Given the description of an element on the screen output the (x, y) to click on. 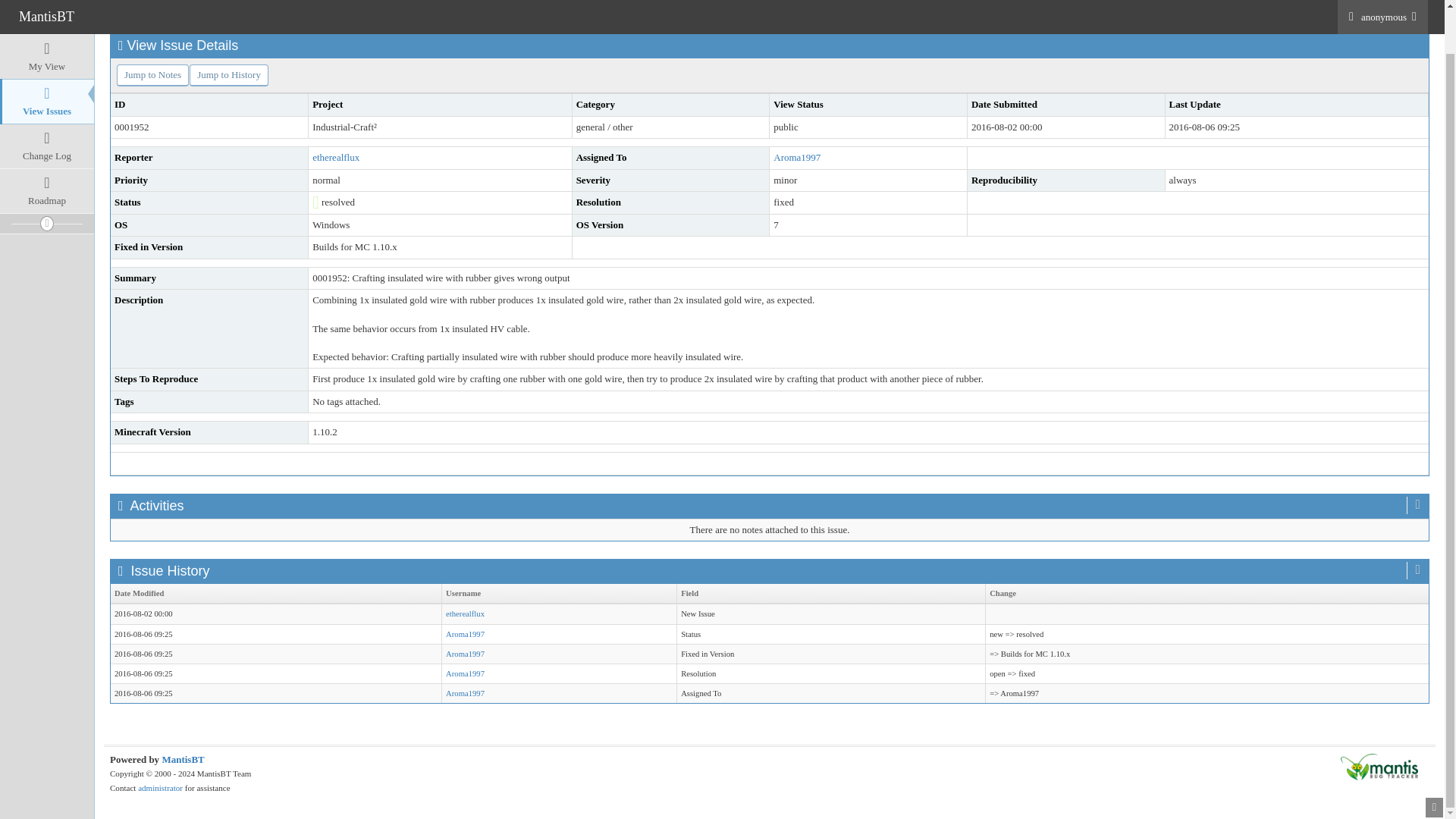
Signup for a new account (256, 9)
My View (47, 16)
Aroma1997 (464, 633)
Aroma1997 (797, 156)
Aroma1997 (464, 654)
Login (189, 9)
bug tracking software (182, 758)
Jump to History (228, 75)
etherealflux (336, 156)
